Given the description of an element on the screen output the (x, y) to click on. 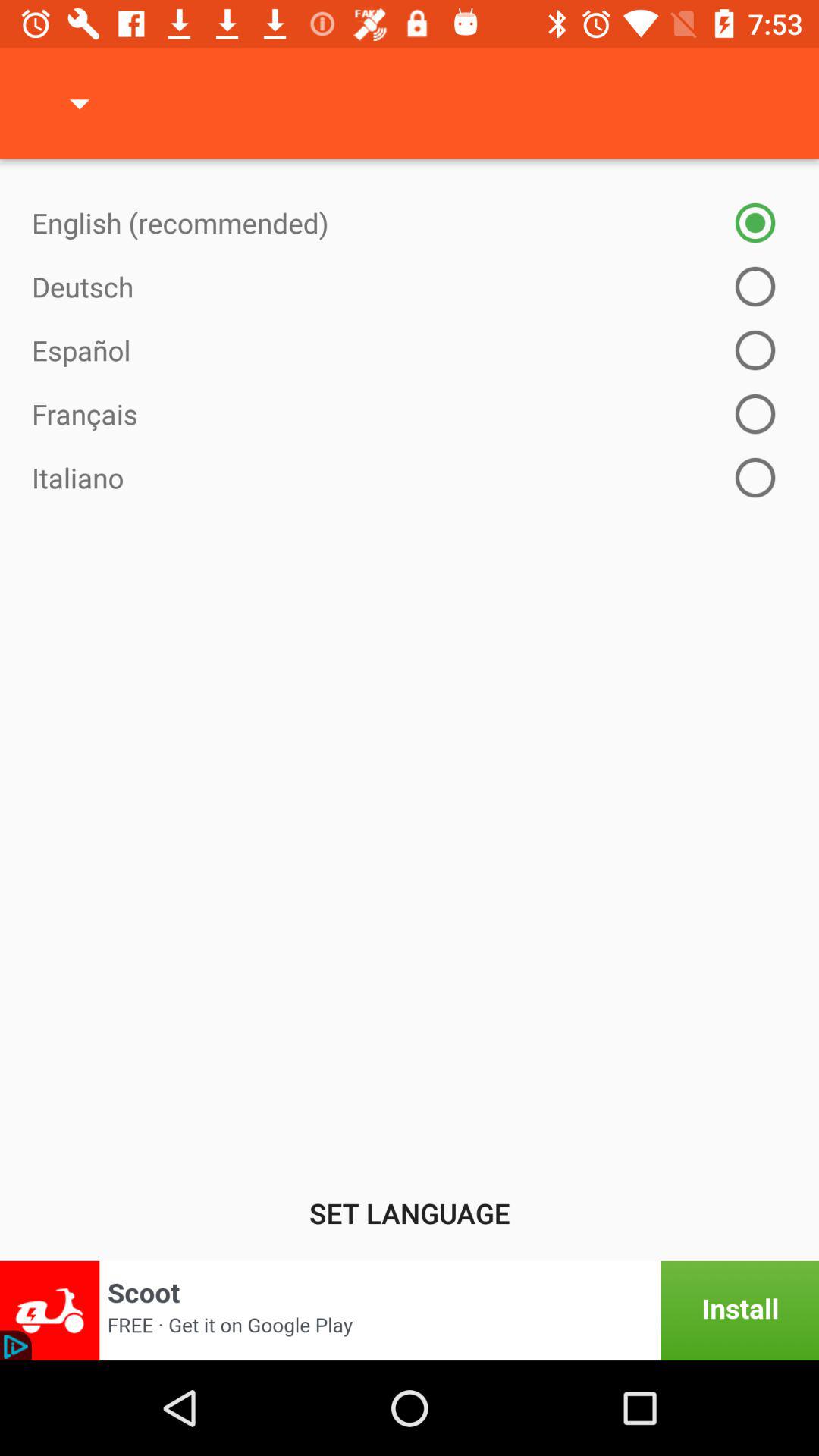
press the item below set language icon (409, 1310)
